Given the description of an element on the screen output the (x, y) to click on. 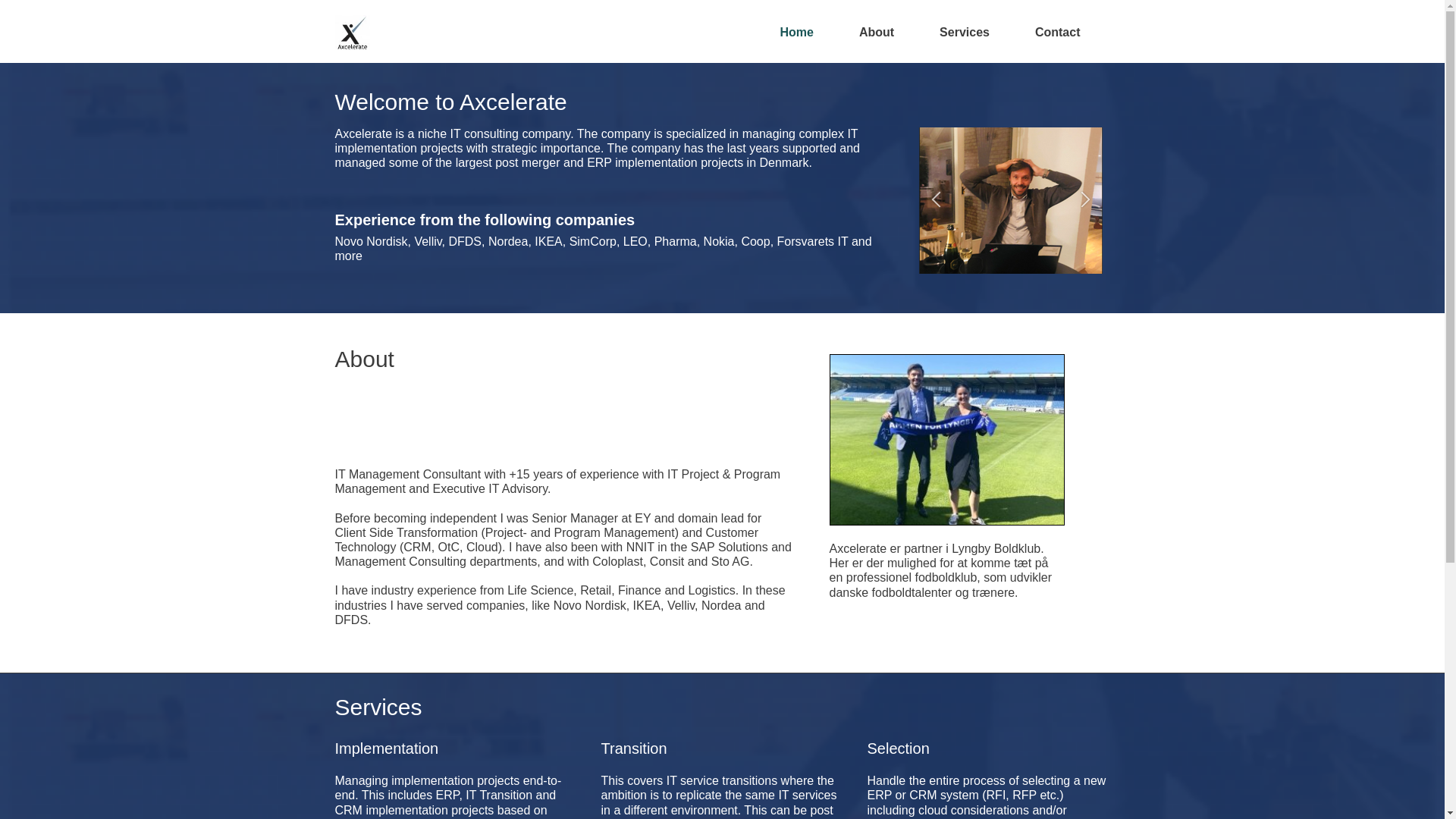
About (876, 31)
Services (964, 31)
Borsen artilkel (826, 200)
Contact (1057, 31)
Home (795, 31)
Performance of the year (1010, 200)
